Given the description of an element on the screen output the (x, y) to click on. 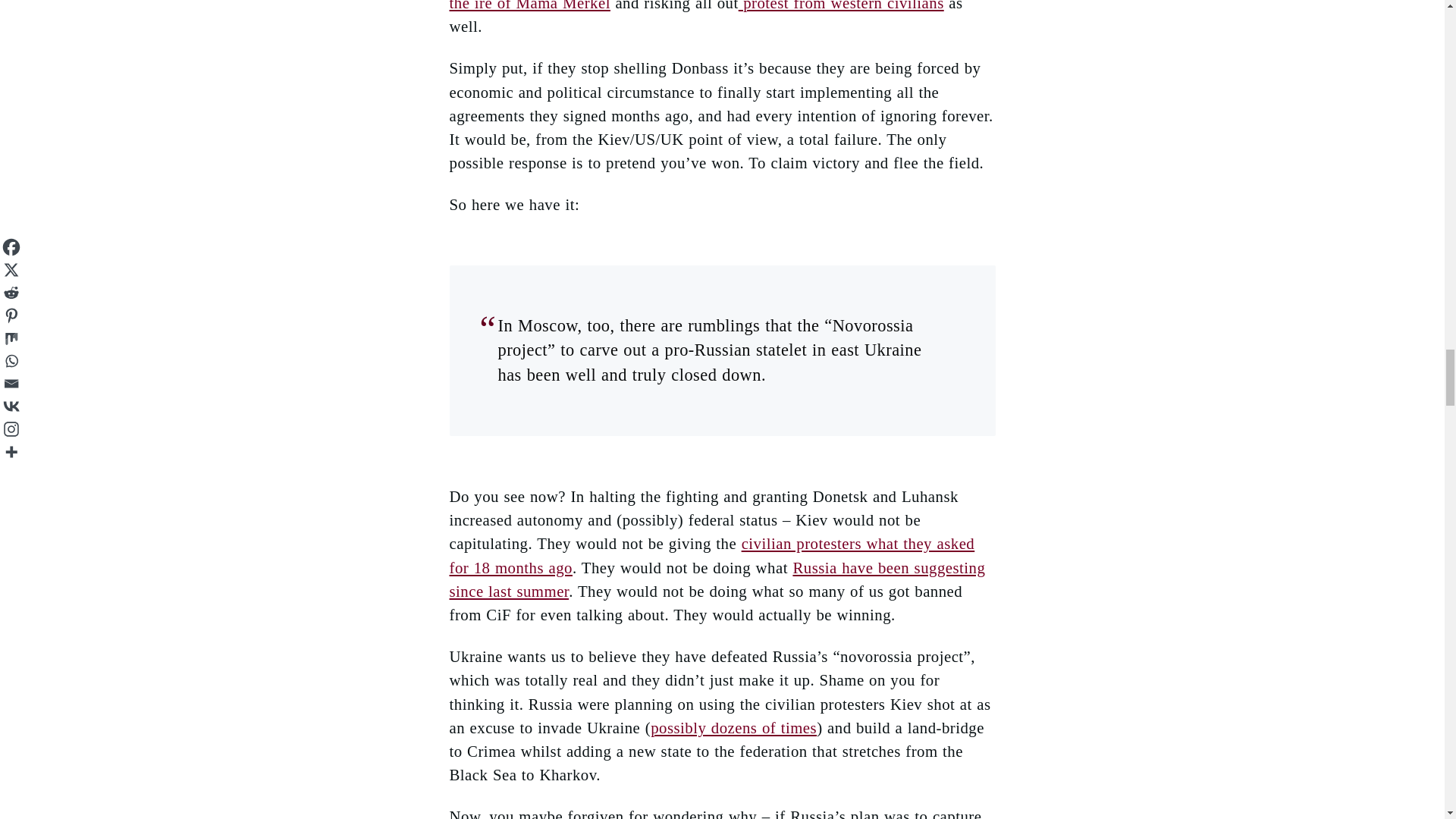
Russia have been suggesting since last summer (716, 578)
protest from western civilians (840, 5)
raising the ire of Mama Merkel (710, 5)
possibly dozens of times (733, 727)
civilian protesters what they asked for 18 months ago (711, 554)
